Given the description of an element on the screen output the (x, y) to click on. 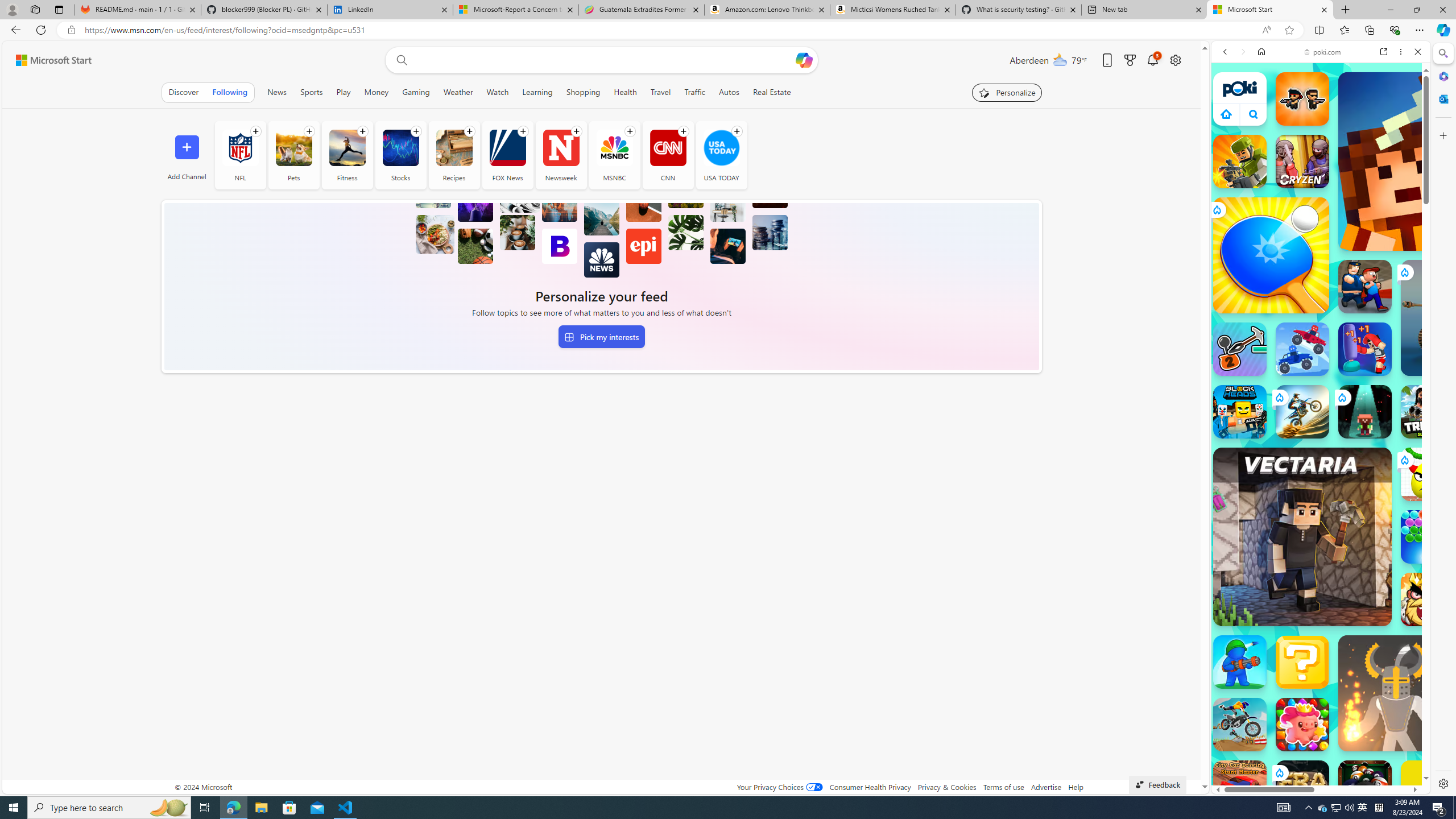
Kour.io Kour.io (1239, 161)
Play (343, 92)
Games for Girls (1320, 406)
Match Arena (1302, 724)
Newsweek (560, 155)
Autos (728, 92)
Health (624, 92)
